Given the description of an element on the screen output the (x, y) to click on. 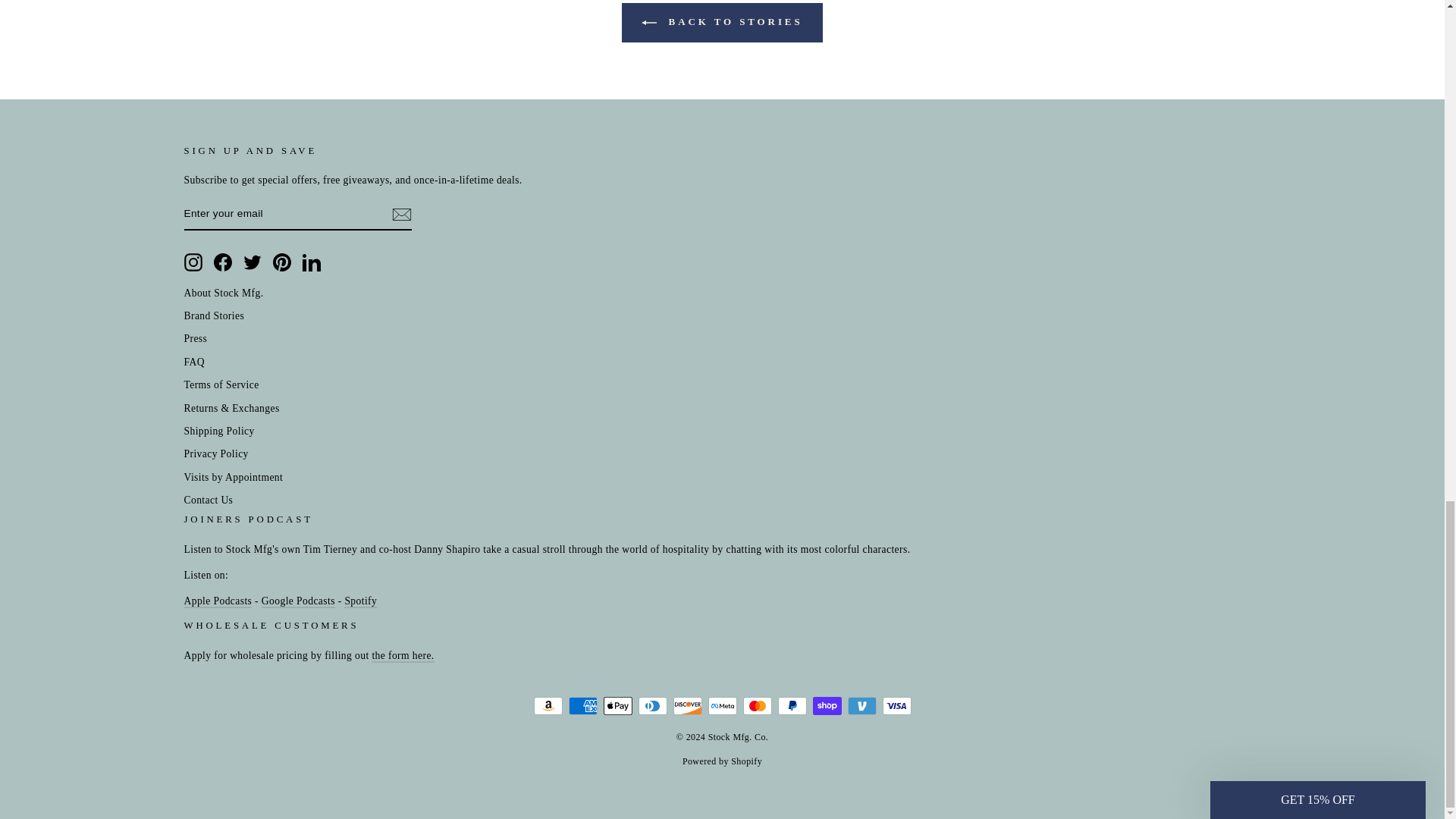
Discover (686, 705)
Amazon (548, 705)
Apple Pay (617, 705)
Stock Mfg. Co. on Instagram (192, 261)
Stock Mfg. Co. on Pinterest (282, 261)
Meta Pay (721, 705)
American Express (582, 705)
Stock Mfg. Co. on Facebook (222, 261)
Stock Mfg. Co. on Twitter (251, 261)
Wholesale (402, 656)
